Given the description of an element on the screen output the (x, y) to click on. 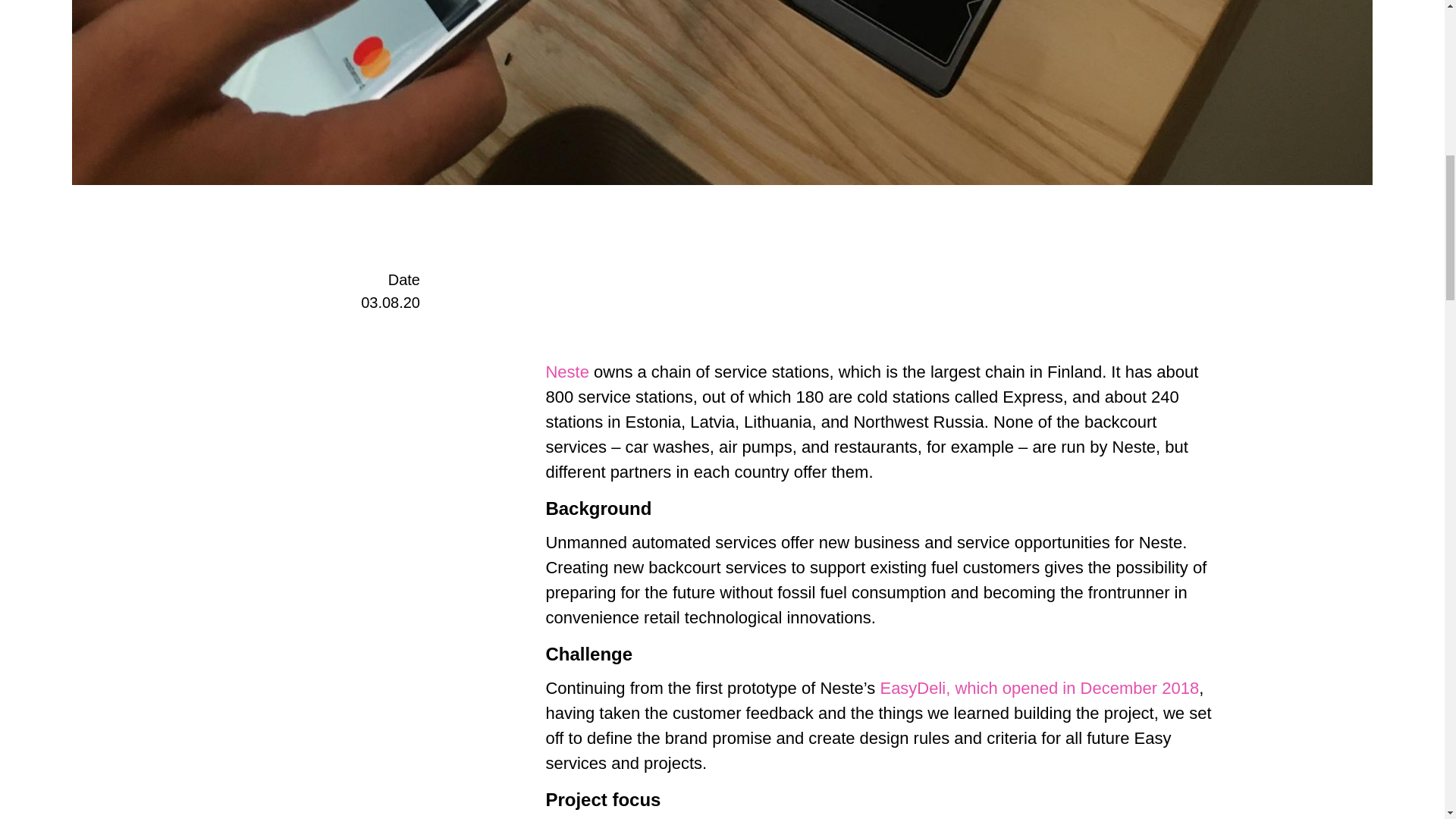
Neste (566, 371)
EasyDeli, which opened in December 2018 (1038, 687)
